Given the description of an element on the screen output the (x, y) to click on. 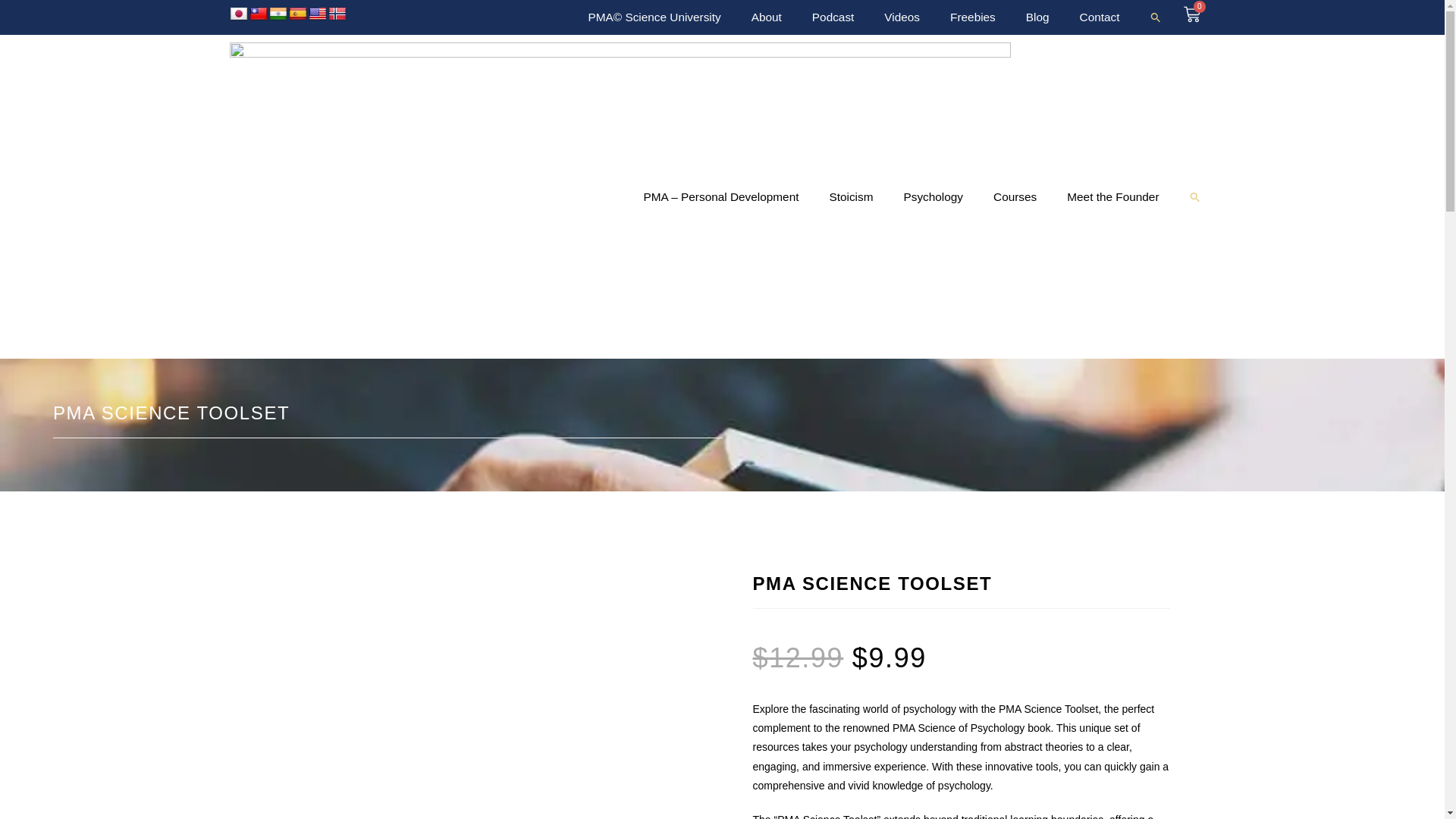
Hindi (276, 14)
Videos (901, 17)
Norwegian (336, 14)
Stoicism (850, 196)
About (766, 17)
Podcast (832, 17)
Japanese (237, 14)
Blog (1037, 17)
Freebies (972, 17)
English (316, 14)
Spanish (296, 14)
Contact (1099, 17)
